Given the description of an element on the screen output the (x, y) to click on. 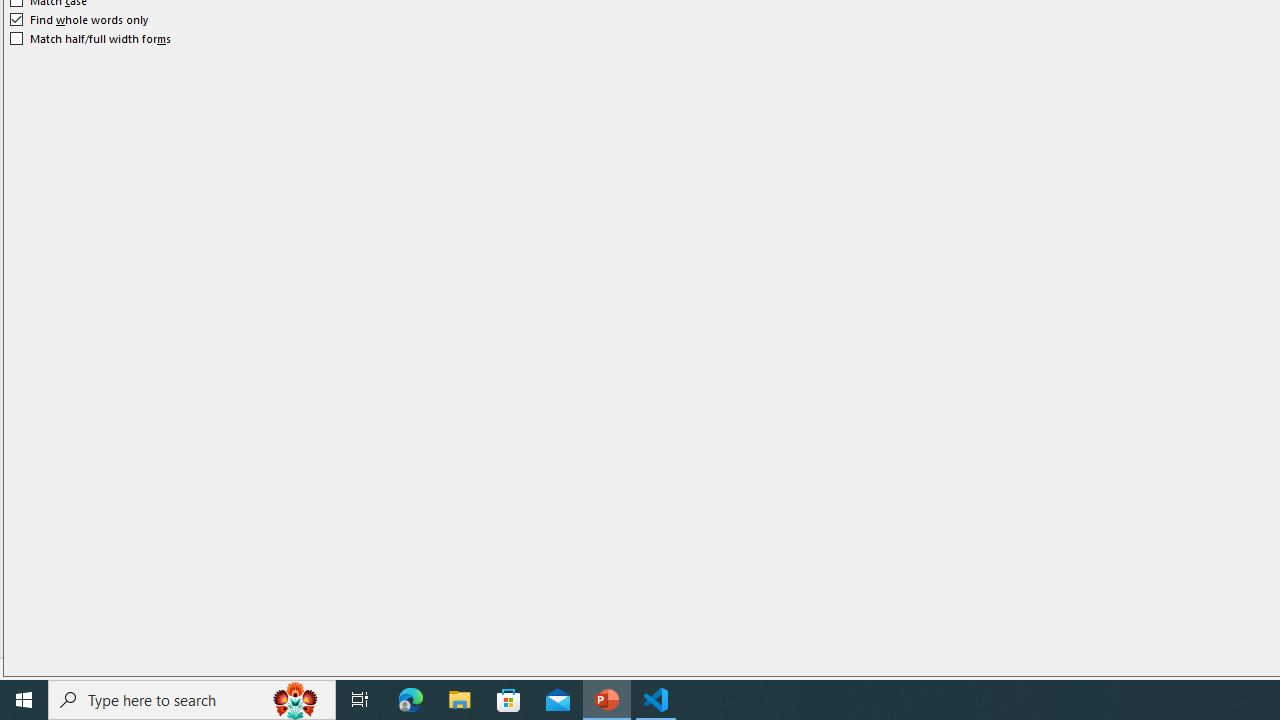
Match half/full width forms (91, 38)
Find whole words only (79, 20)
